Given the description of an element on the screen output the (x, y) to click on. 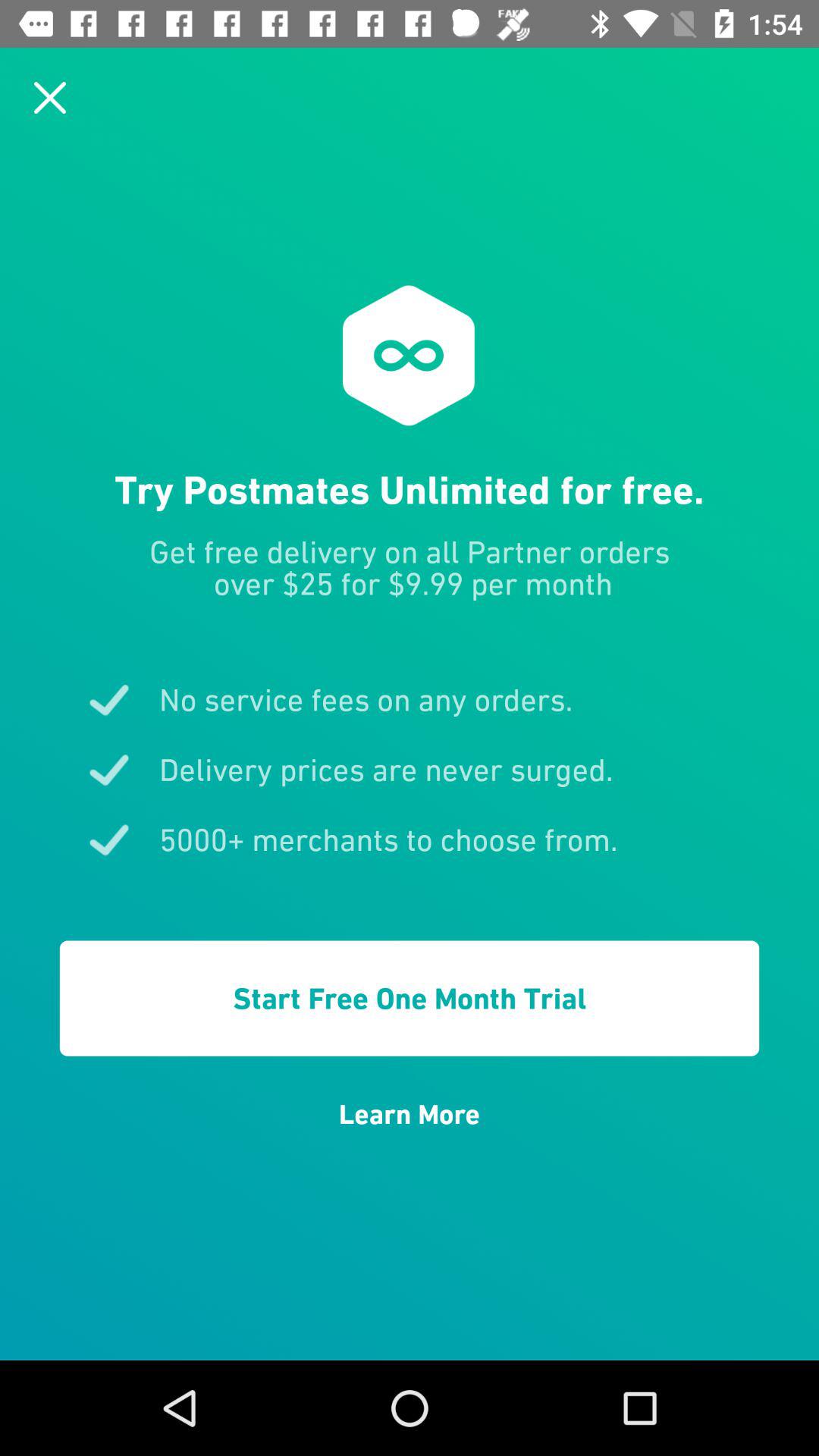
launch the icon at the top left corner (49, 97)
